Given the description of an element on the screen output the (x, y) to click on. 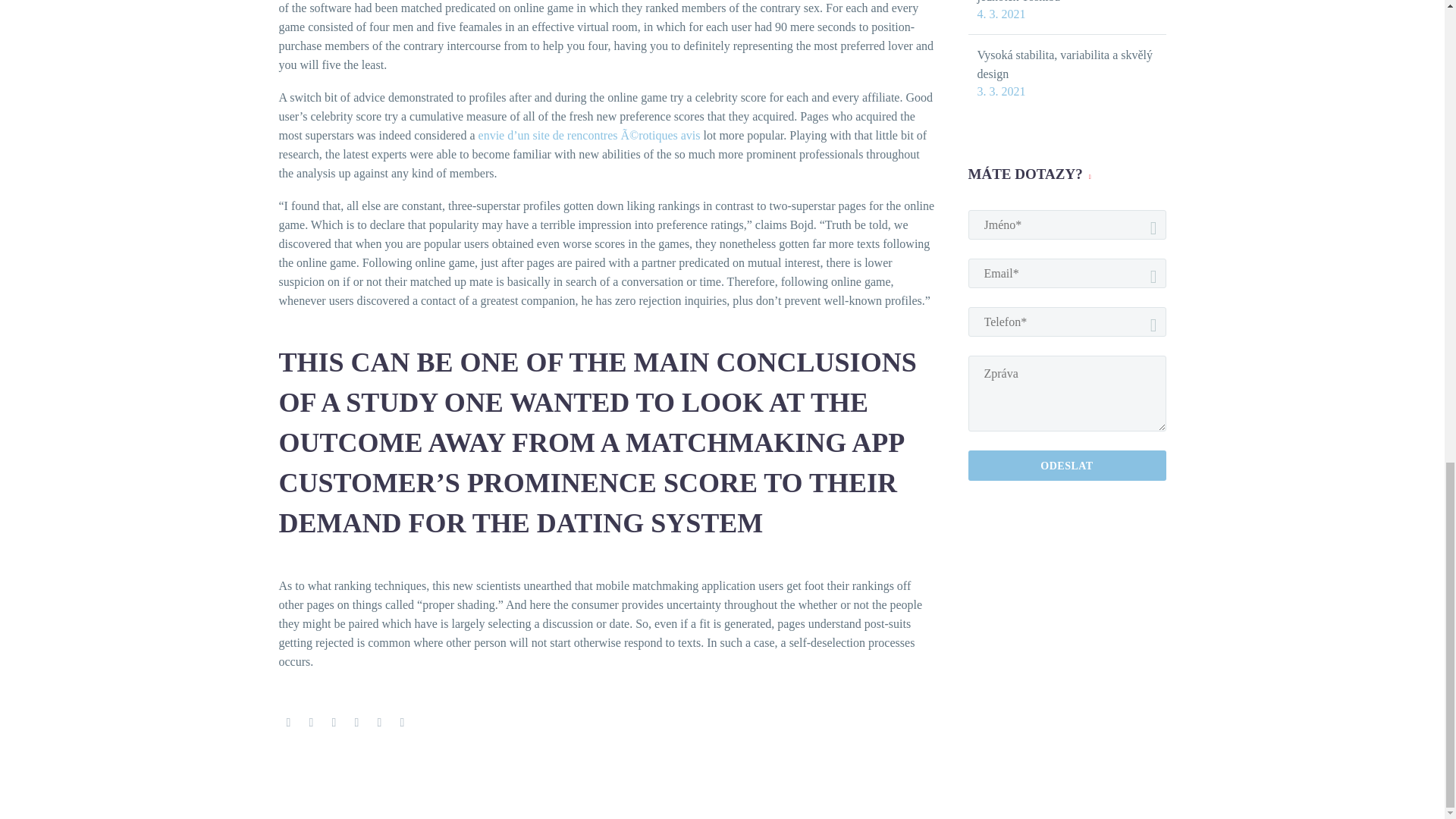
Reddit (401, 722)
Facebook (288, 722)
Odeslat (1067, 465)
Pinterest (333, 722)
Twitter (310, 722)
LinkedIn (378, 722)
Tumblr (356, 722)
